Given the description of an element on the screen output the (x, y) to click on. 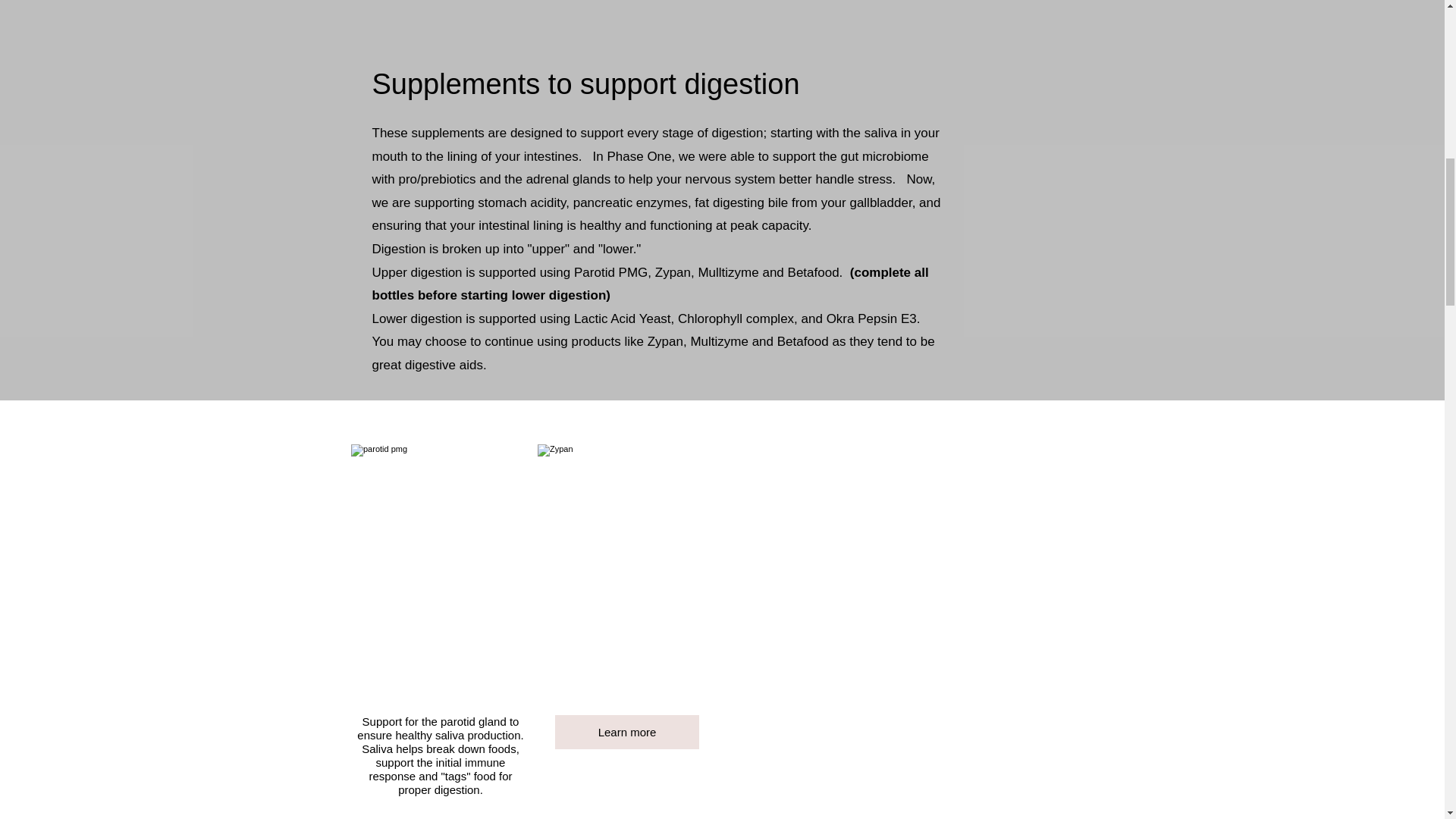
Learn more (626, 731)
